Given the description of an element on the screen output the (x, y) to click on. 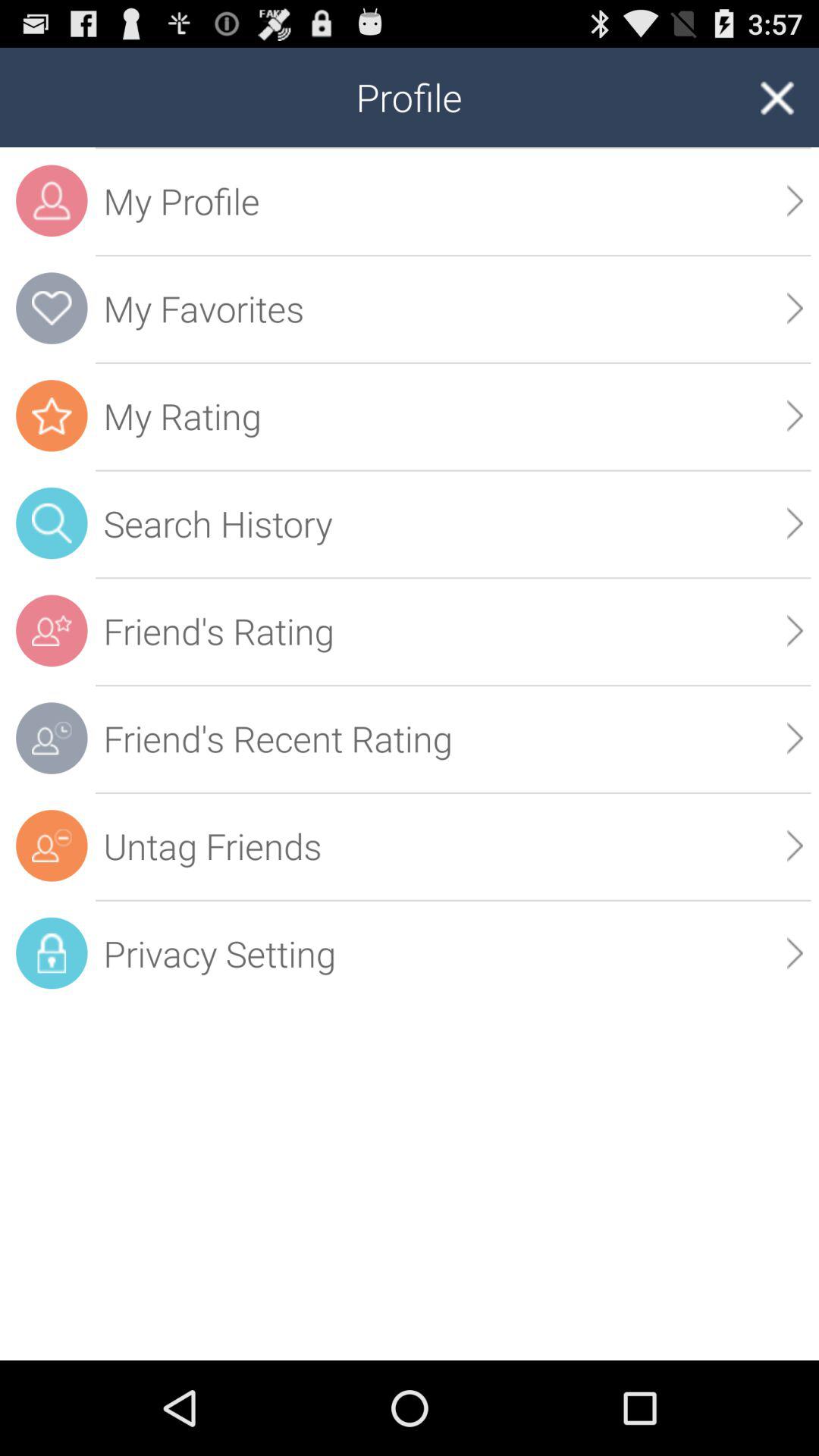
tap icon below the my rating icon (453, 523)
